Given the description of an element on the screen output the (x, y) to click on. 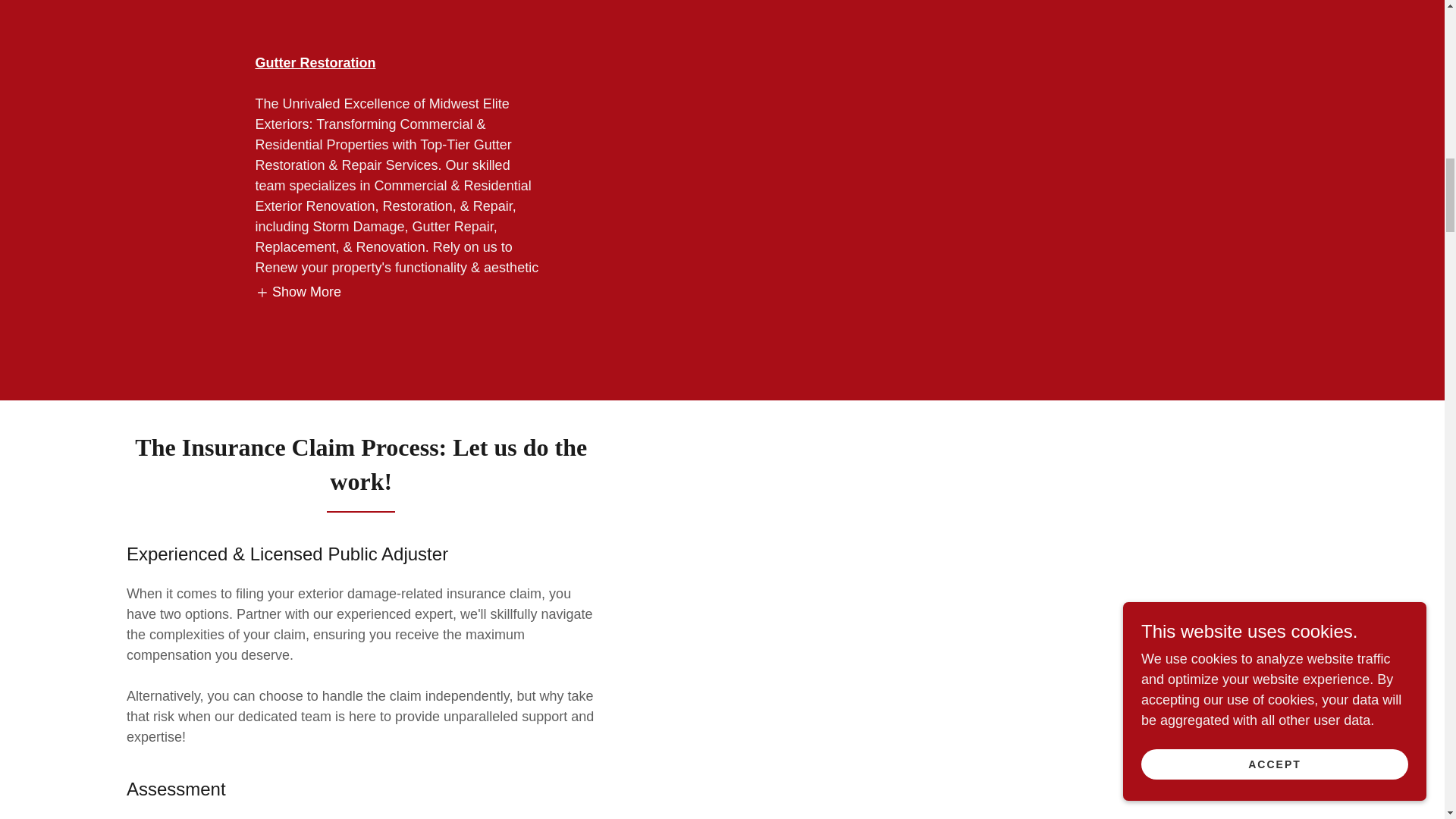
Gutter Restoration (315, 62)
